Given the description of an element on the screen output the (x, y) to click on. 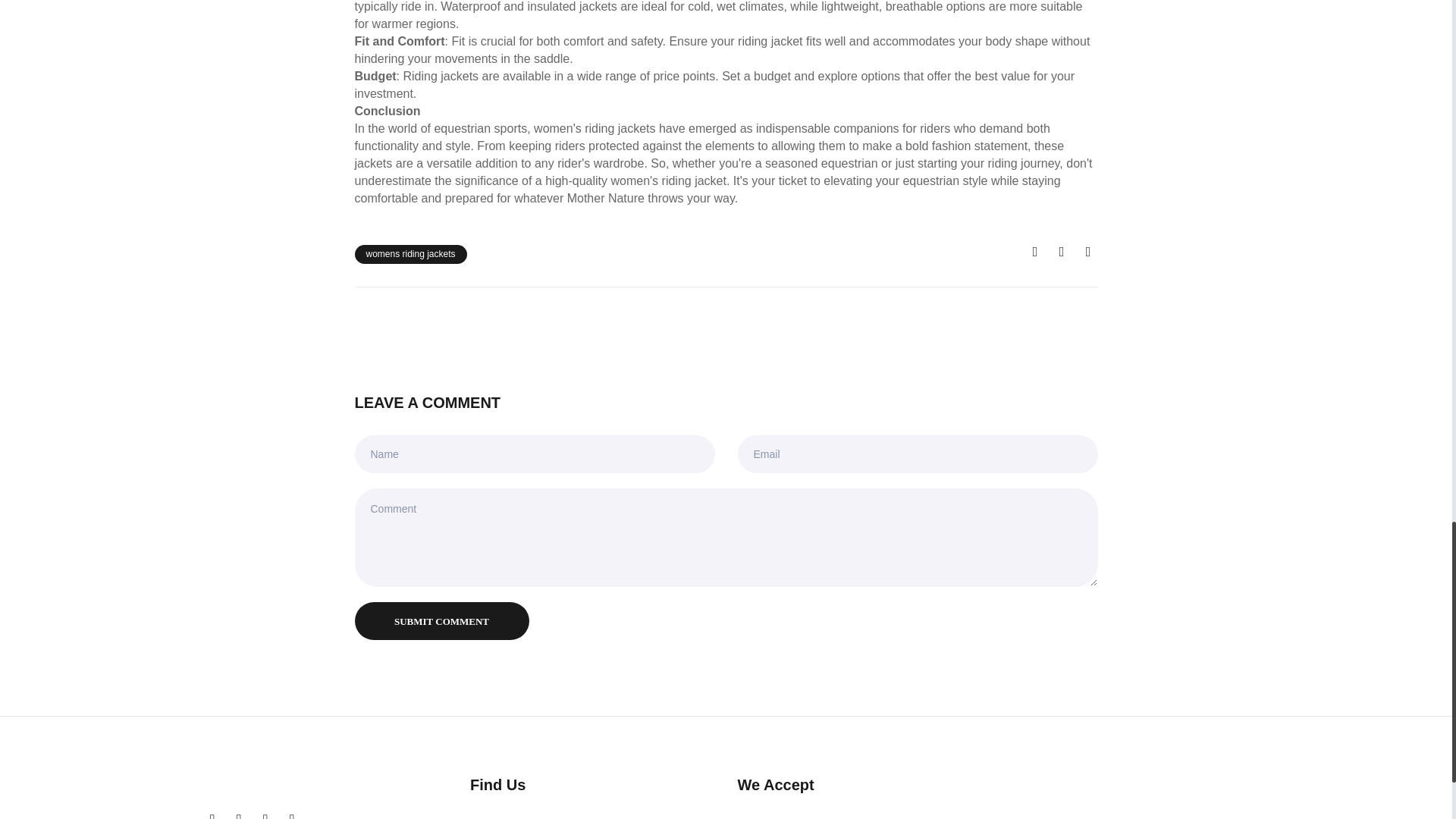
Youtube (265, 814)
womens riding jackets (411, 253)
Vimeo (291, 814)
SUBMIT COMMENT (442, 620)
Share on Facebook (1034, 251)
Facebook (237, 814)
Twitter (212, 814)
Share on whatsapp (1087, 251)
Share on twitter (1061, 251)
